Given the description of an element on the screen output the (x, y) to click on. 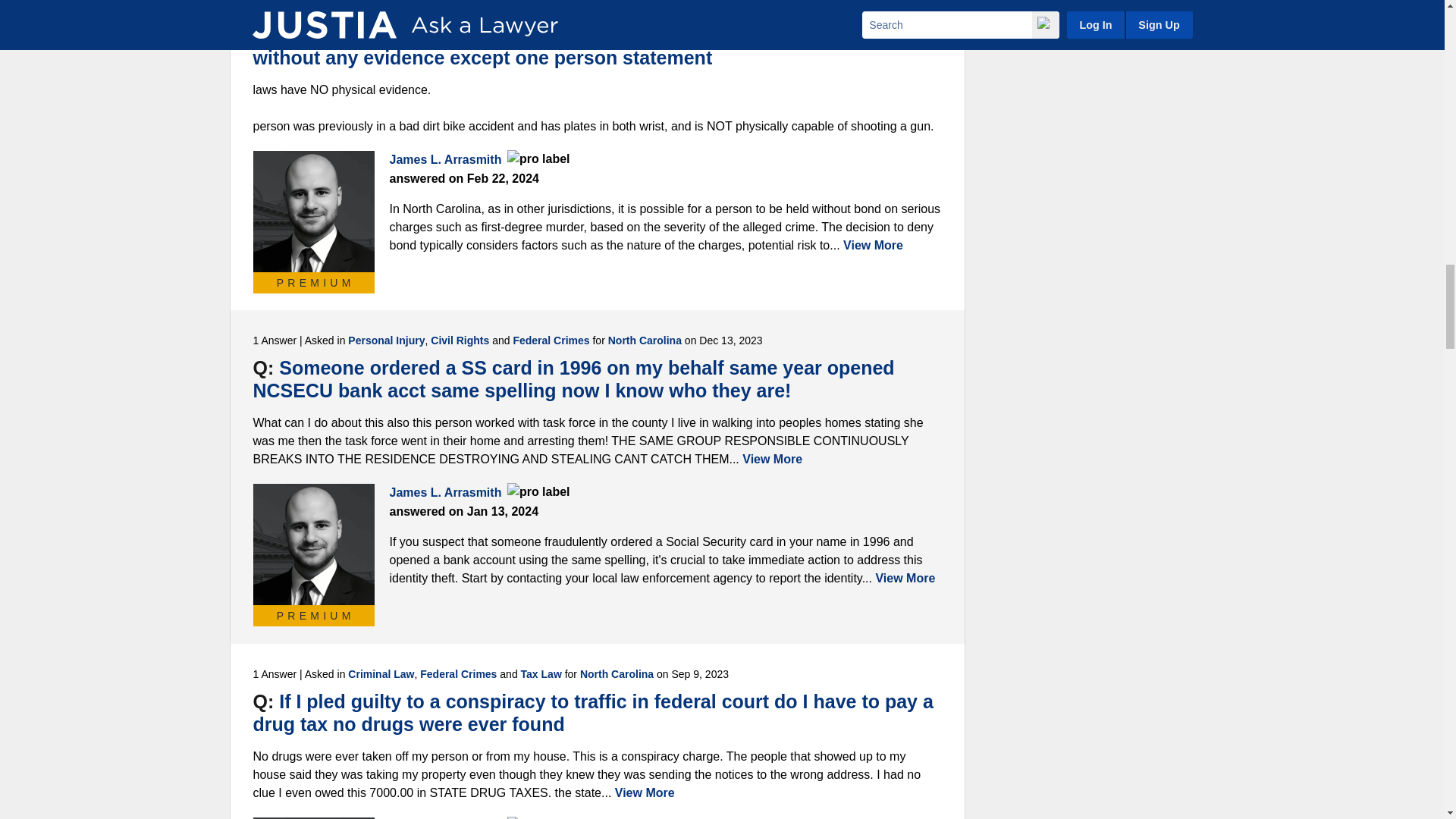
James L. Arrasmith (313, 818)
James L. Arrasmith (313, 210)
James L. Arrasmith (313, 544)
